Given the description of an element on the screen output the (x, y) to click on. 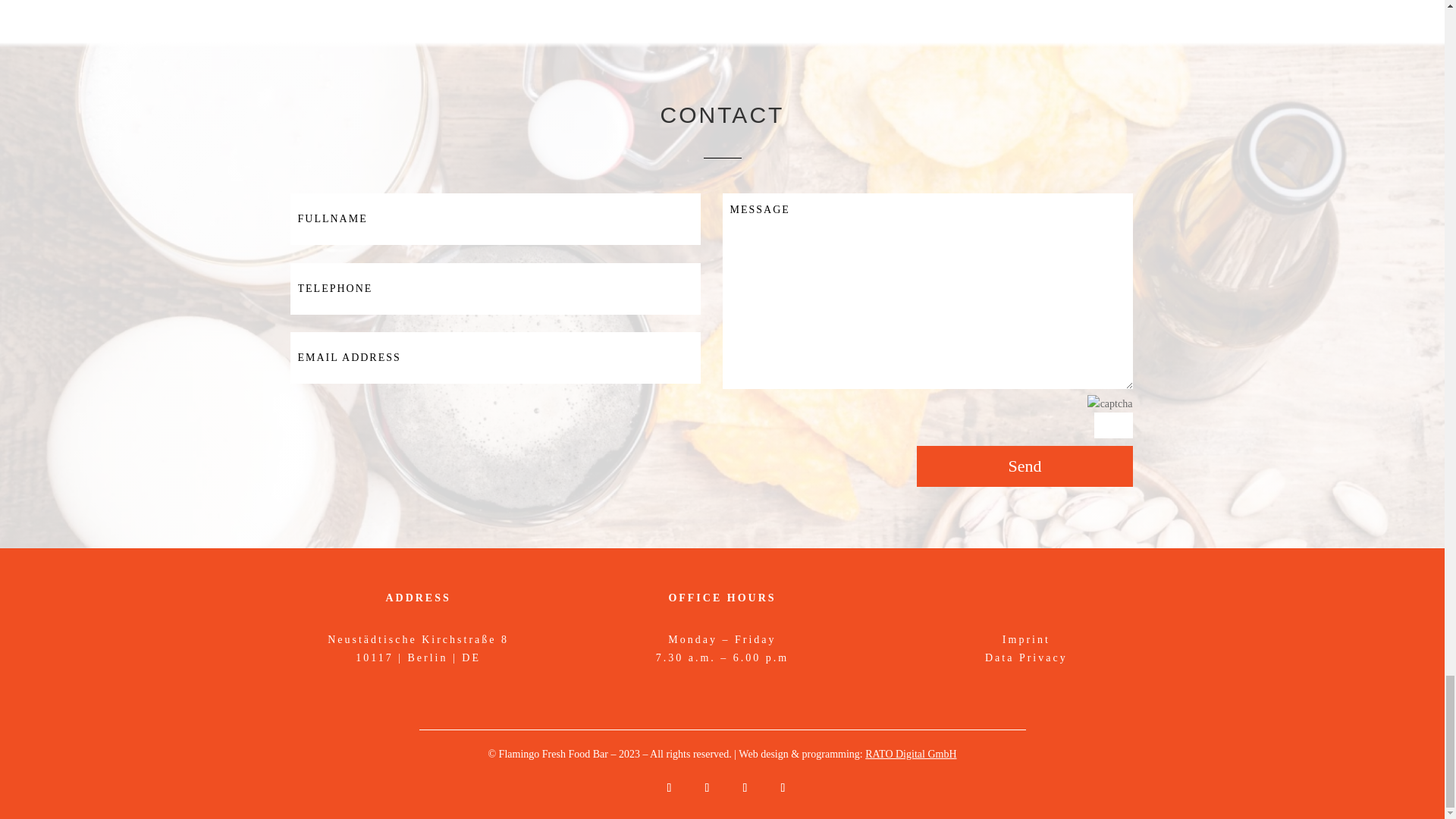
Data Privacy (1026, 657)
Imprint (1026, 639)
Send (1024, 465)
RATO Digital GmbH (910, 754)
Send (1024, 465)
